Given the description of an element on the screen output the (x, y) to click on. 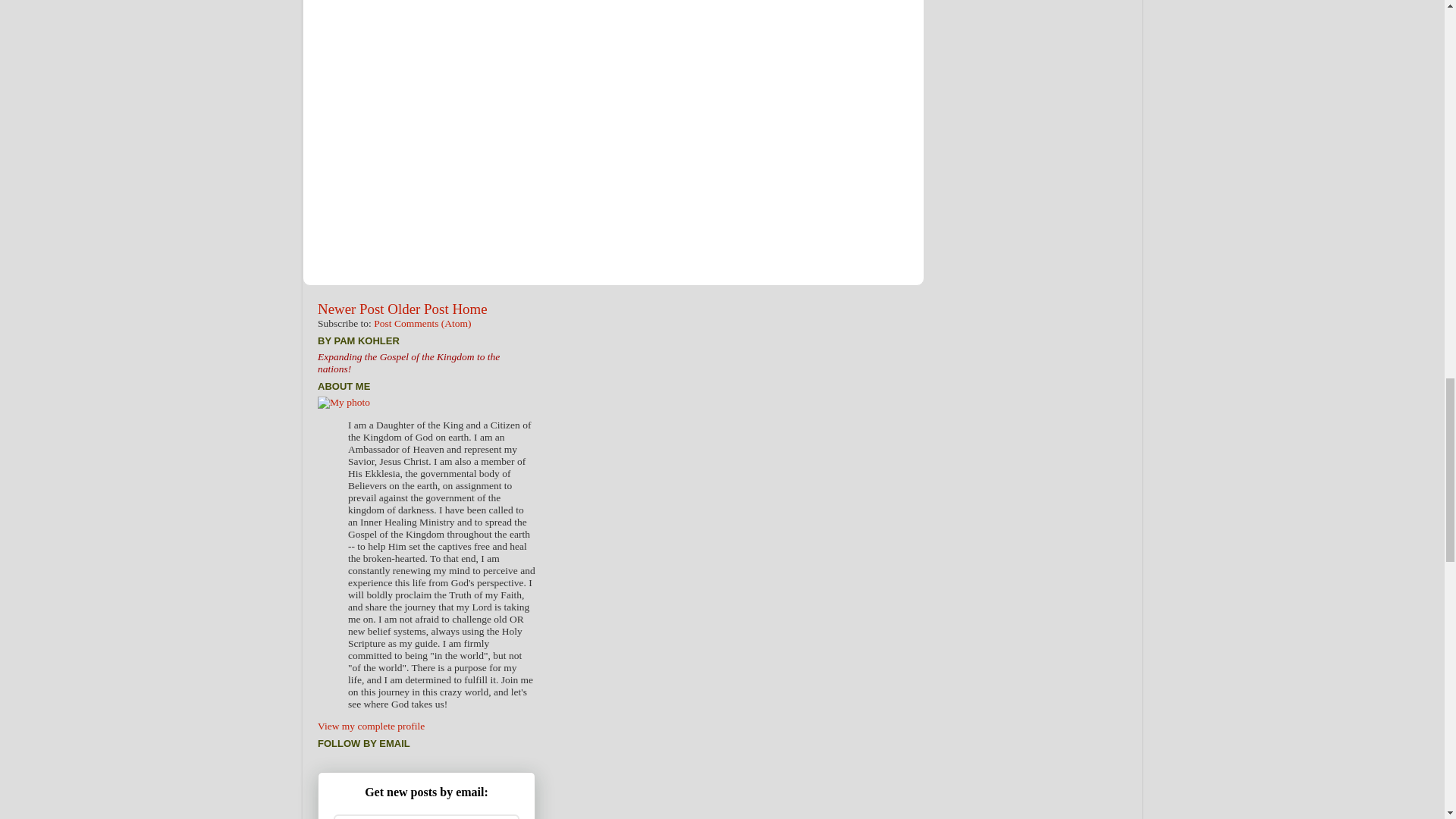
Newer Post (350, 308)
Older Post (417, 308)
Older Post (417, 308)
Home (468, 308)
View my complete profile (371, 726)
Newer Post (350, 308)
